Given the description of an element on the screen output the (x, y) to click on. 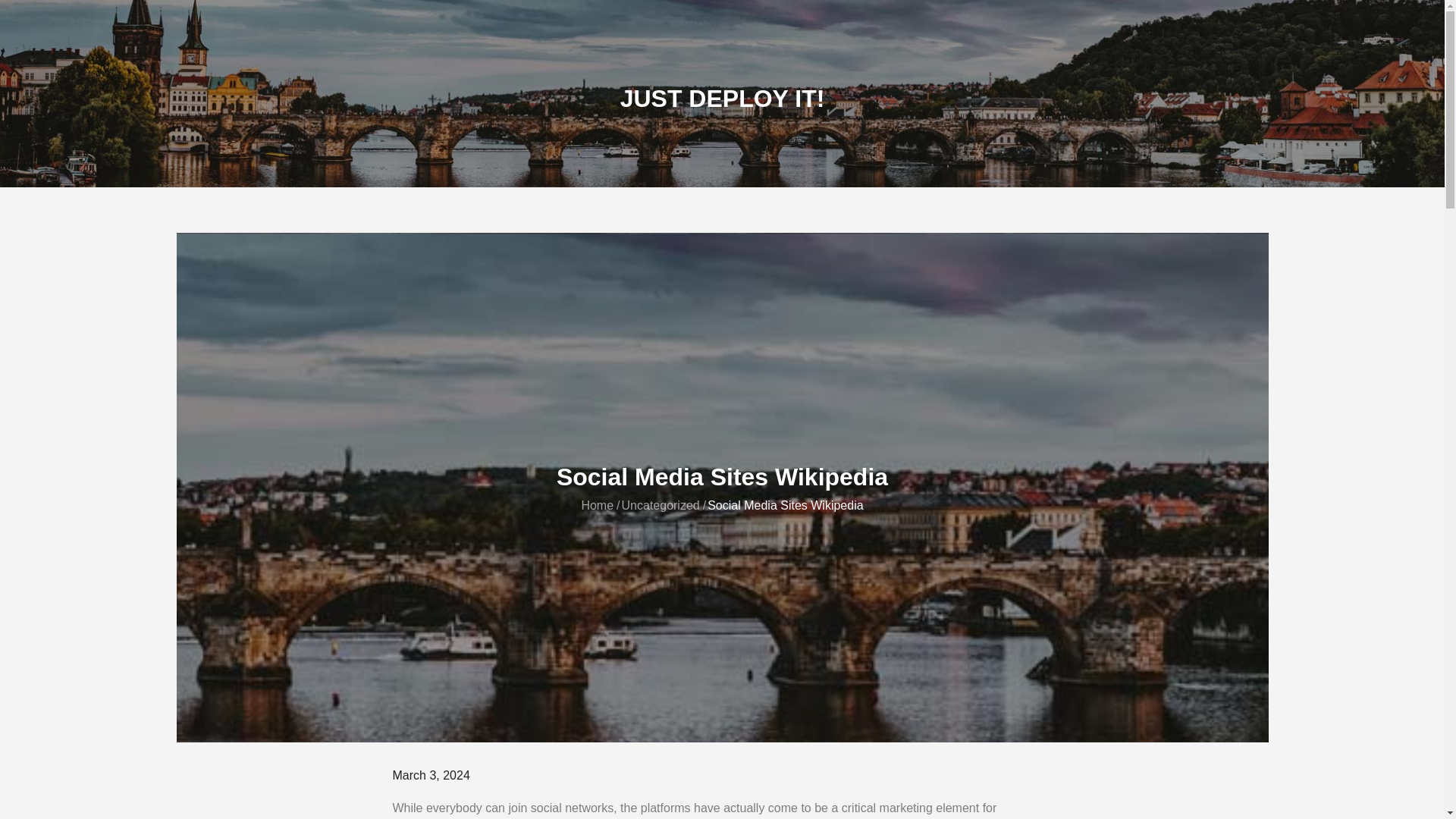
March 3, 2024 (431, 775)
Home (596, 504)
Uncategorized (660, 504)
JUST DEPLOY IT! (722, 98)
